Given the description of an element on the screen output the (x, y) to click on. 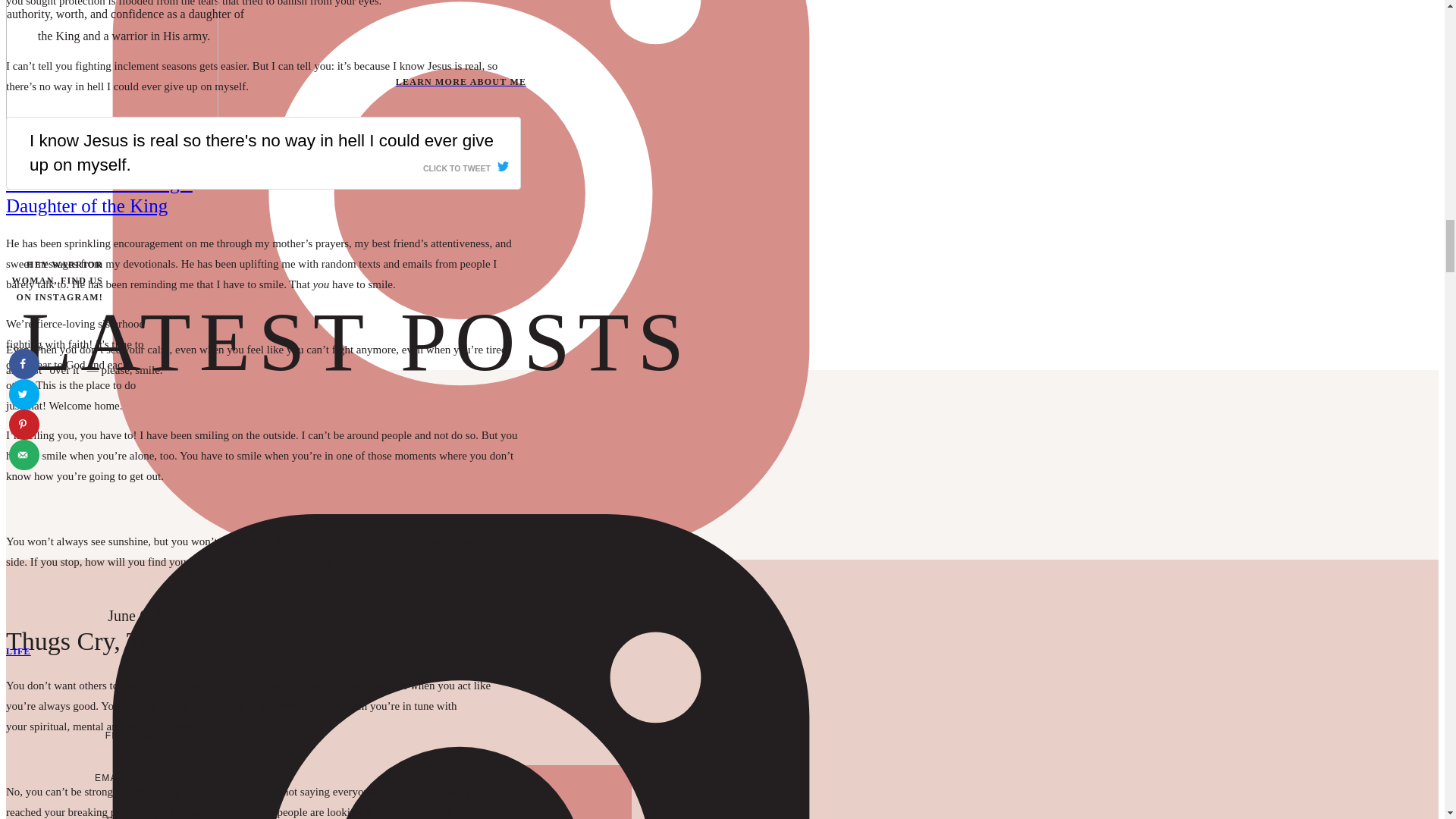
LEARN MORE ABOUT ME (460, 82)
